Given the description of an element on the screen output the (x, y) to click on. 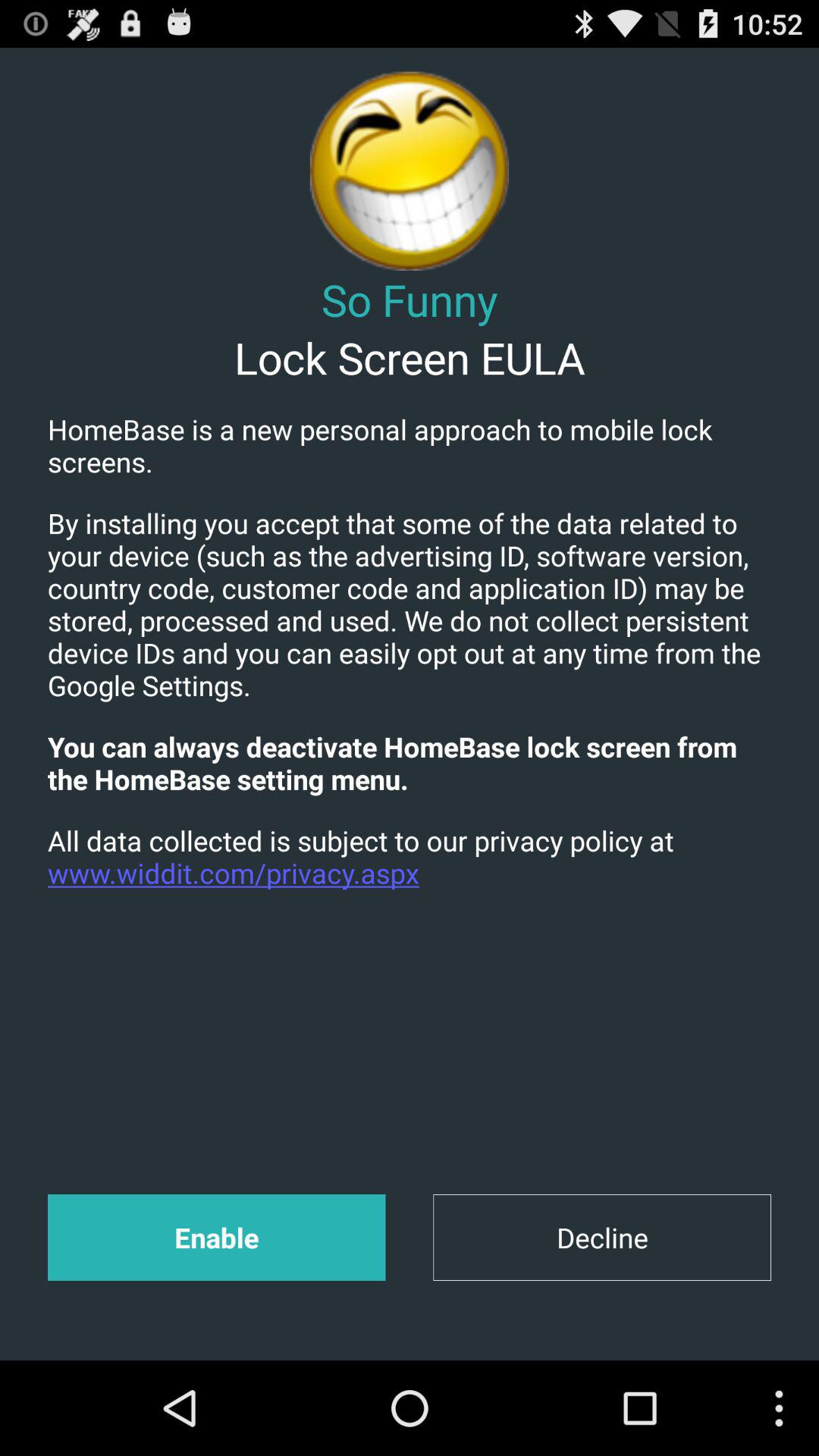
select all data collected item (409, 856)
